Given the description of an element on the screen output the (x, y) to click on. 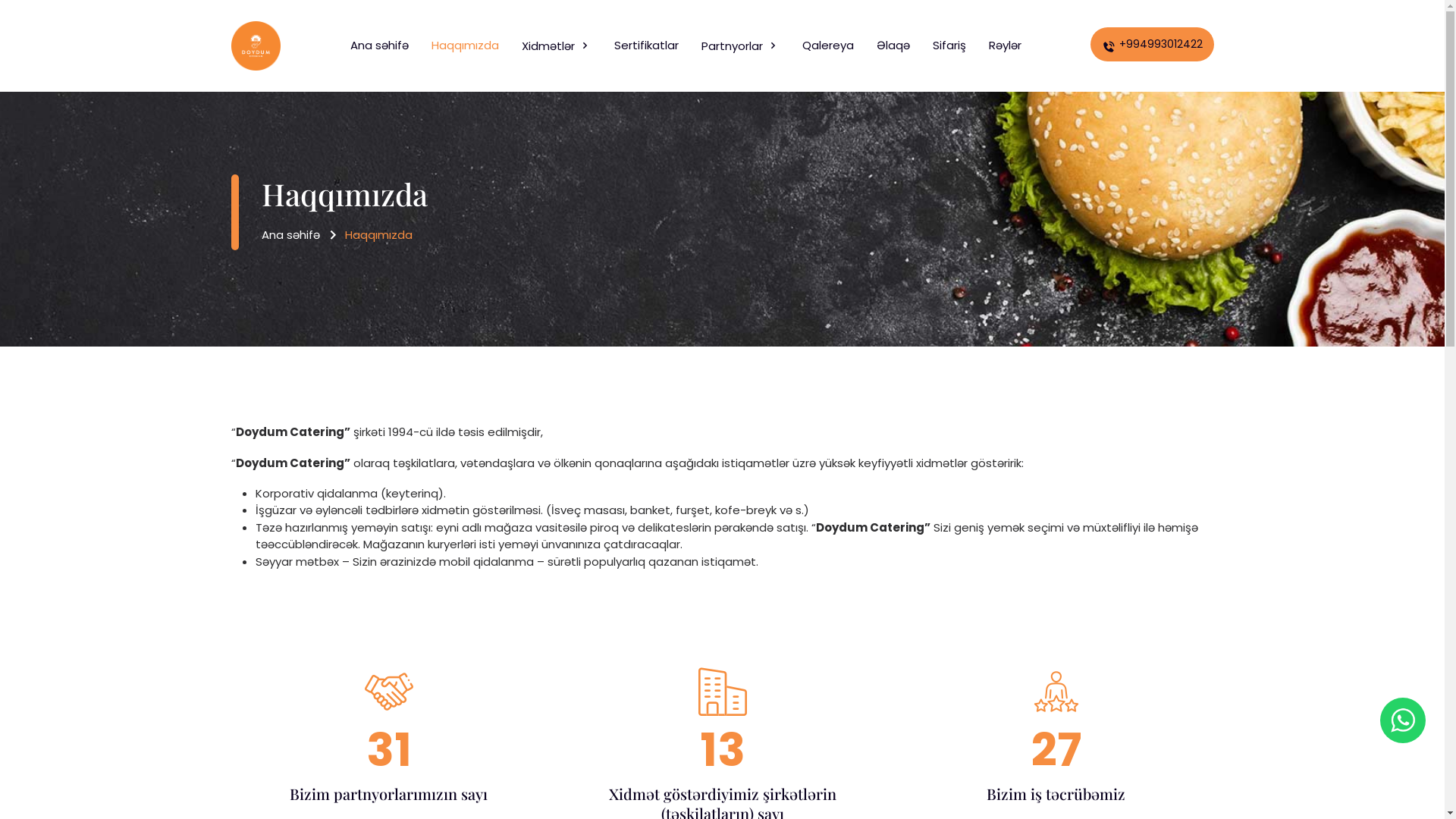
Partnyorlar Element type: text (739, 46)
Sertifikatlar Element type: text (646, 45)
+994993012422 Element type: text (1152, 44)
Qalereya Element type: text (827, 45)
